Given the description of an element on the screen output the (x, y) to click on. 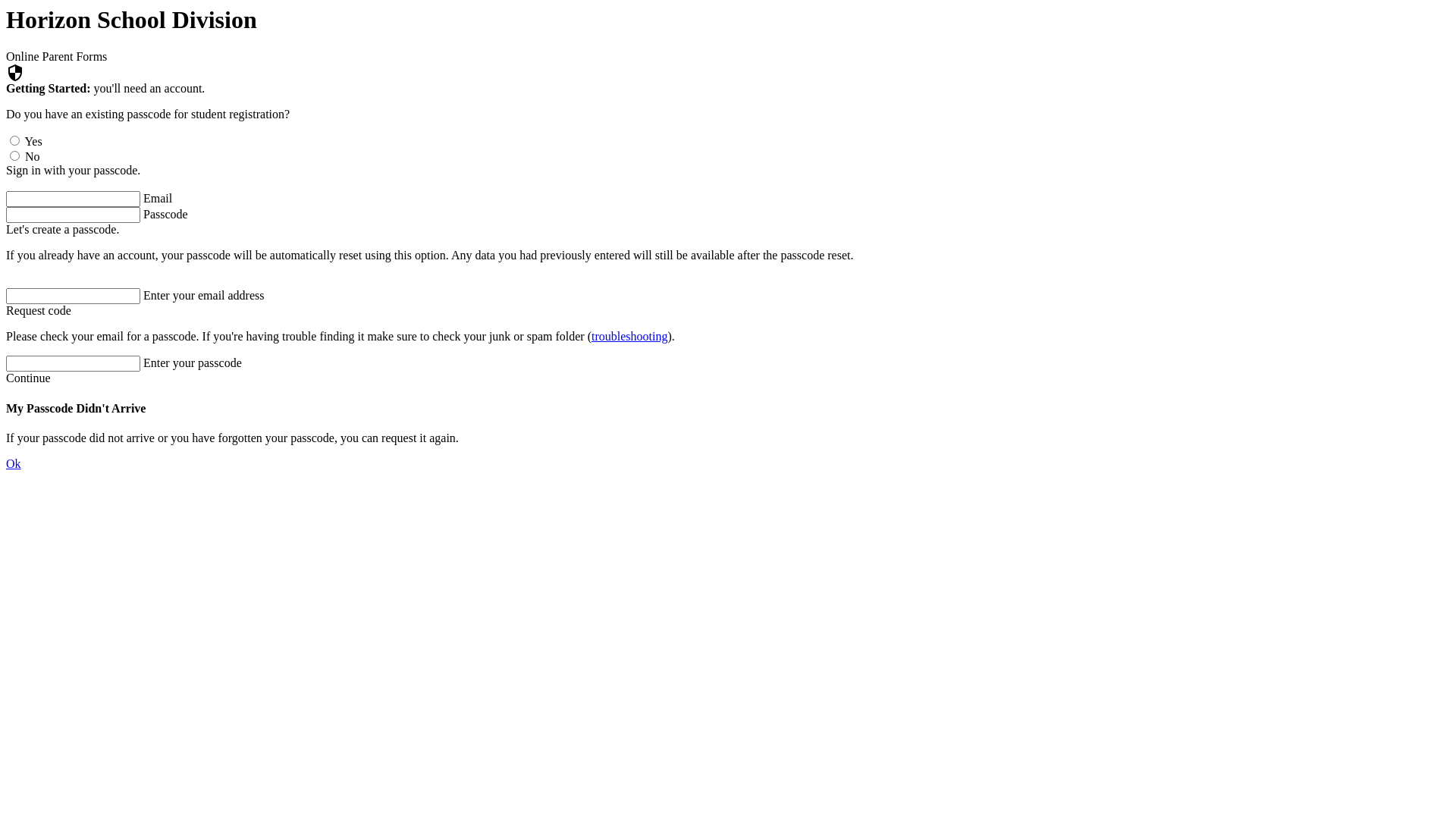
Request code Element type: text (38, 310)
troubleshooting Element type: text (629, 335)
Continue Element type: text (28, 377)
Ok Element type: text (13, 463)
